Given the description of an element on the screen output the (x, y) to click on. 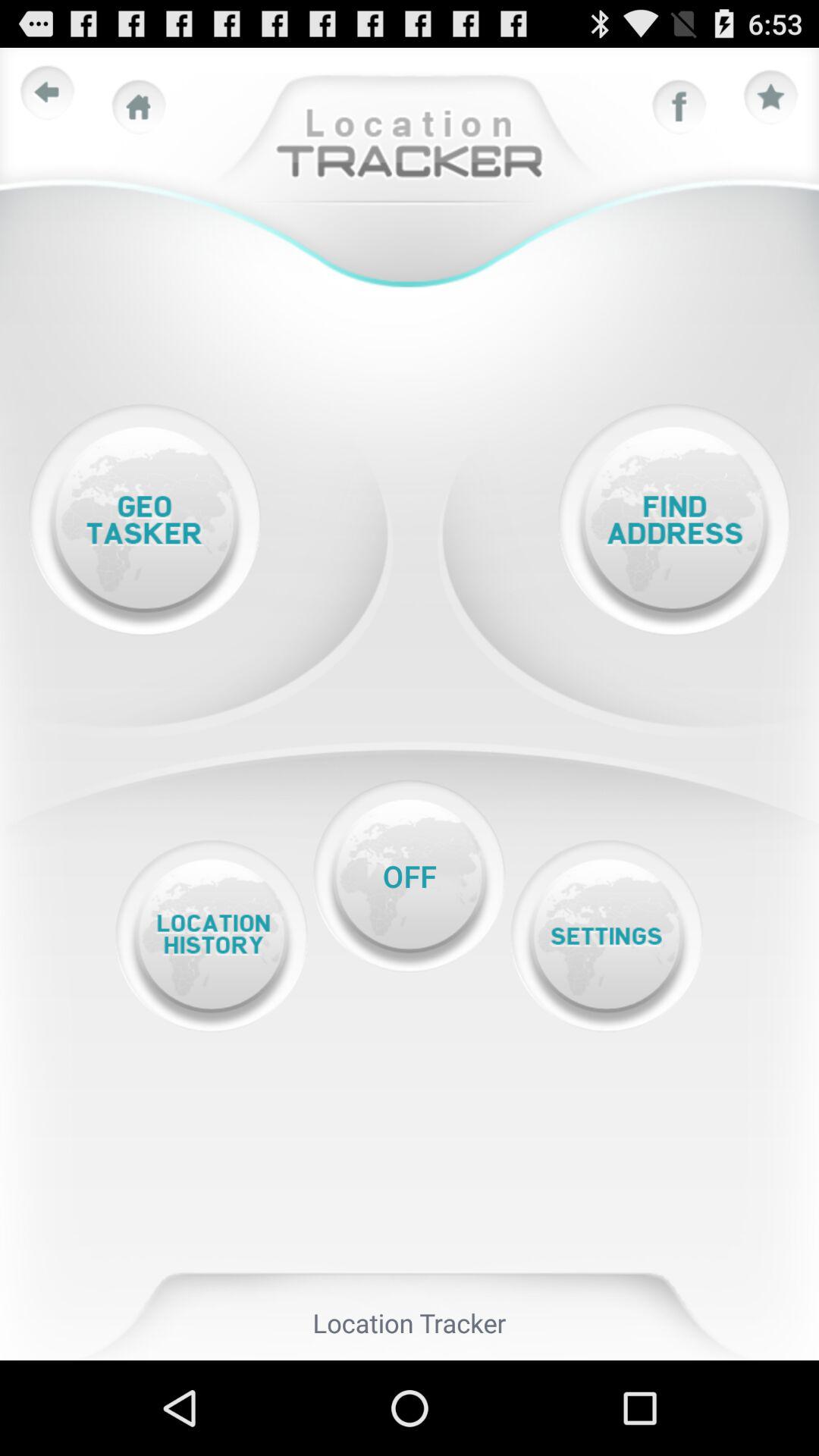
rate star (771, 97)
